Given the description of an element on the screen output the (x, y) to click on. 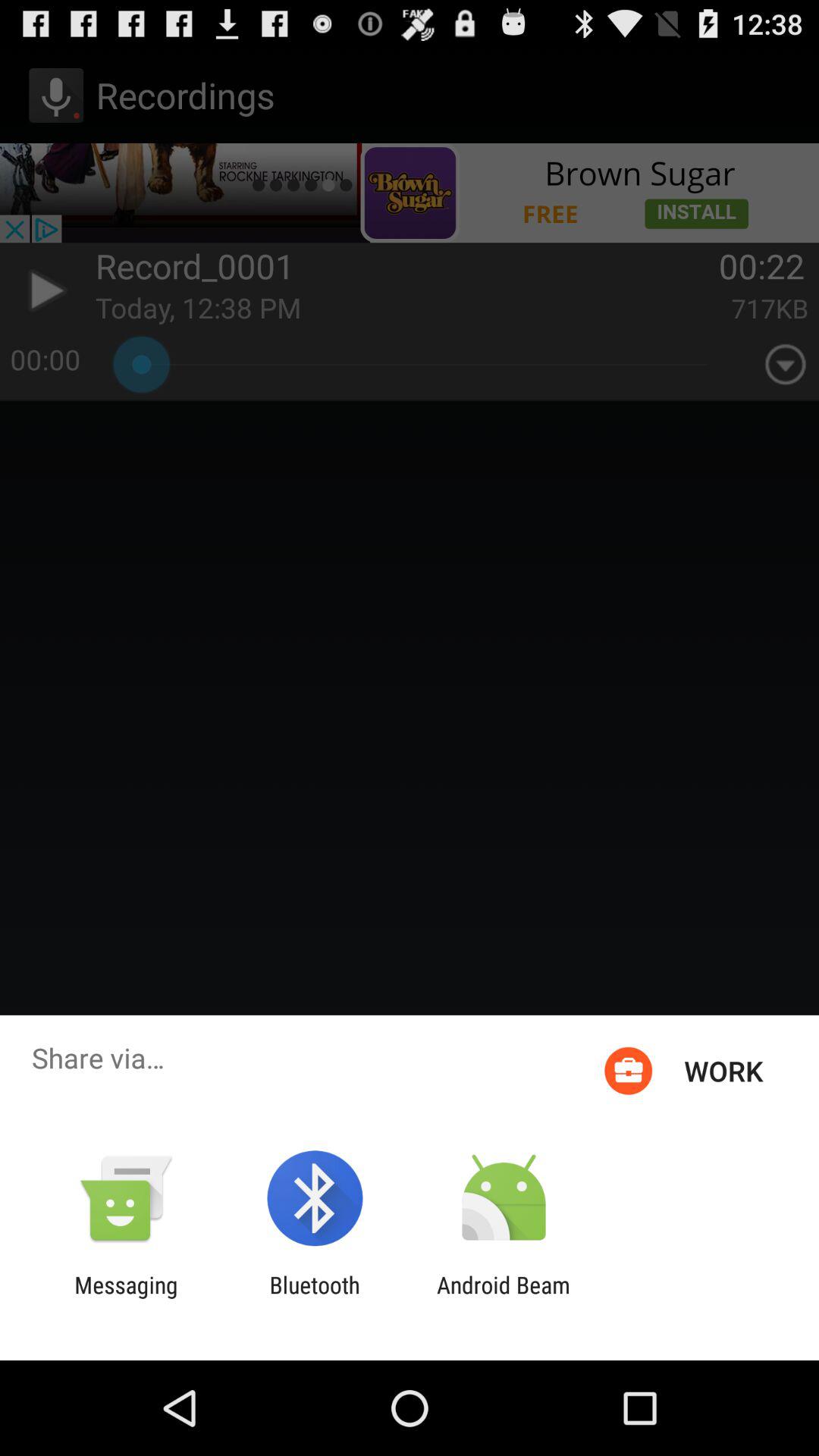
click bluetooth item (314, 1298)
